Given the description of an element on the screen output the (x, y) to click on. 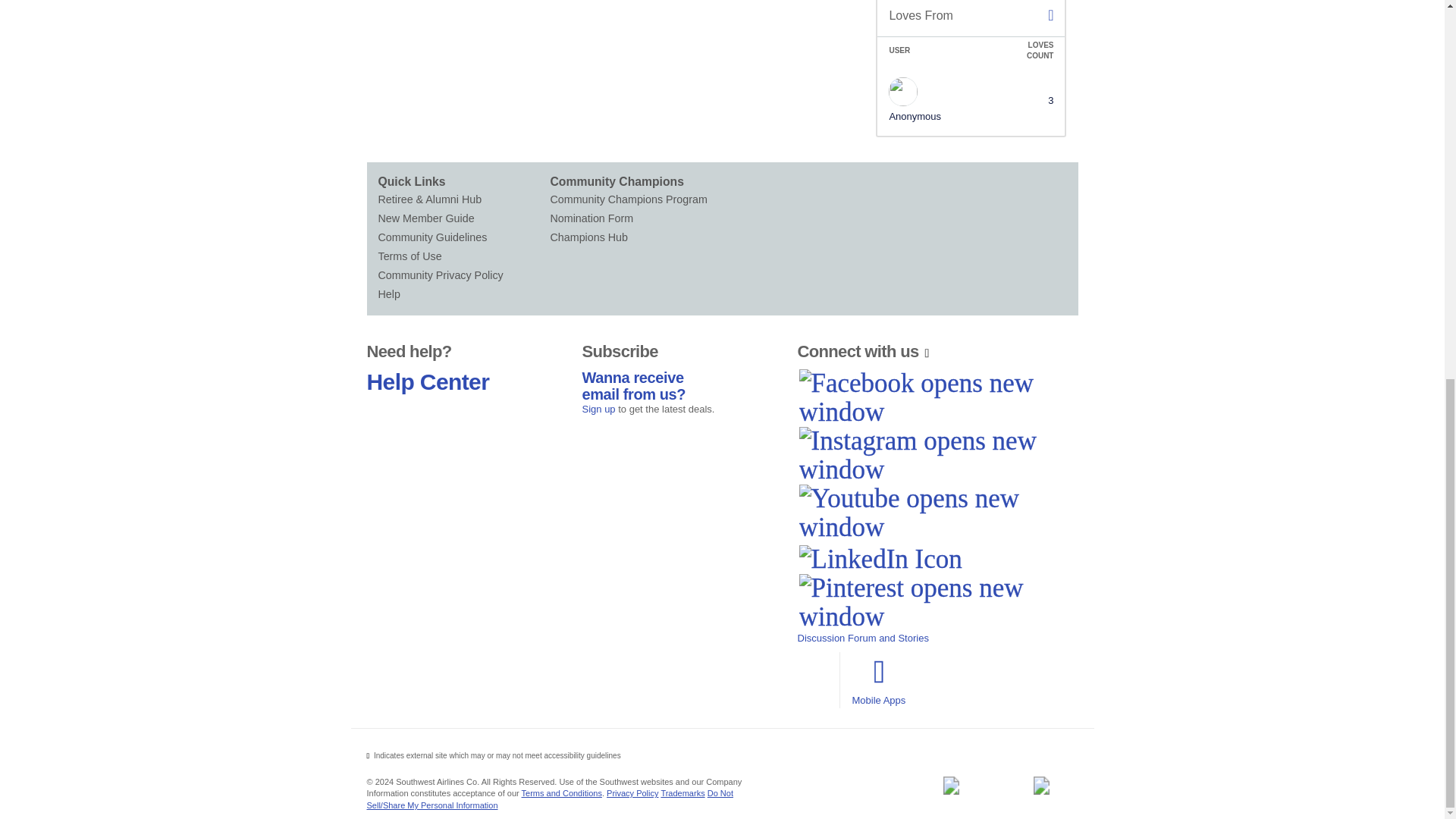
Community Guidelines (463, 237)
Southwest Cargo logo and link (1041, 785)
Terms of Use (463, 256)
New Member Guide (463, 218)
Southwest Business logo and link (950, 785)
Community Privacy Policy (463, 275)
